Given the description of an element on the screen output the (x, y) to click on. 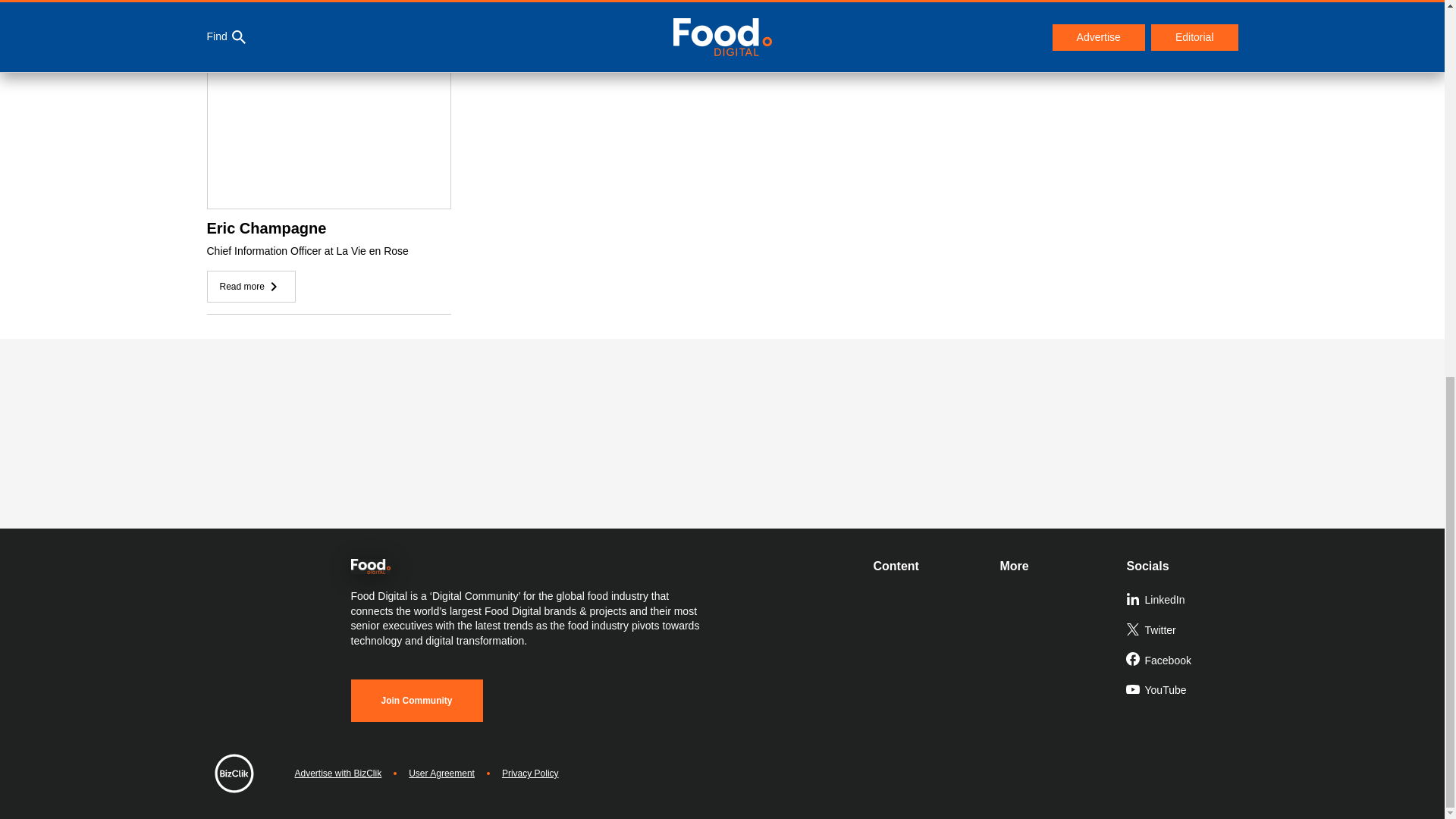
Join Community (415, 700)
Twitter (1182, 630)
Advertise with BizClik (337, 773)
YouTube (1182, 690)
Privacy Policy (530, 773)
Facebook (1182, 661)
LinkedIn (1182, 600)
User Agreement (441, 773)
